Given the description of an element on the screen output the (x, y) to click on. 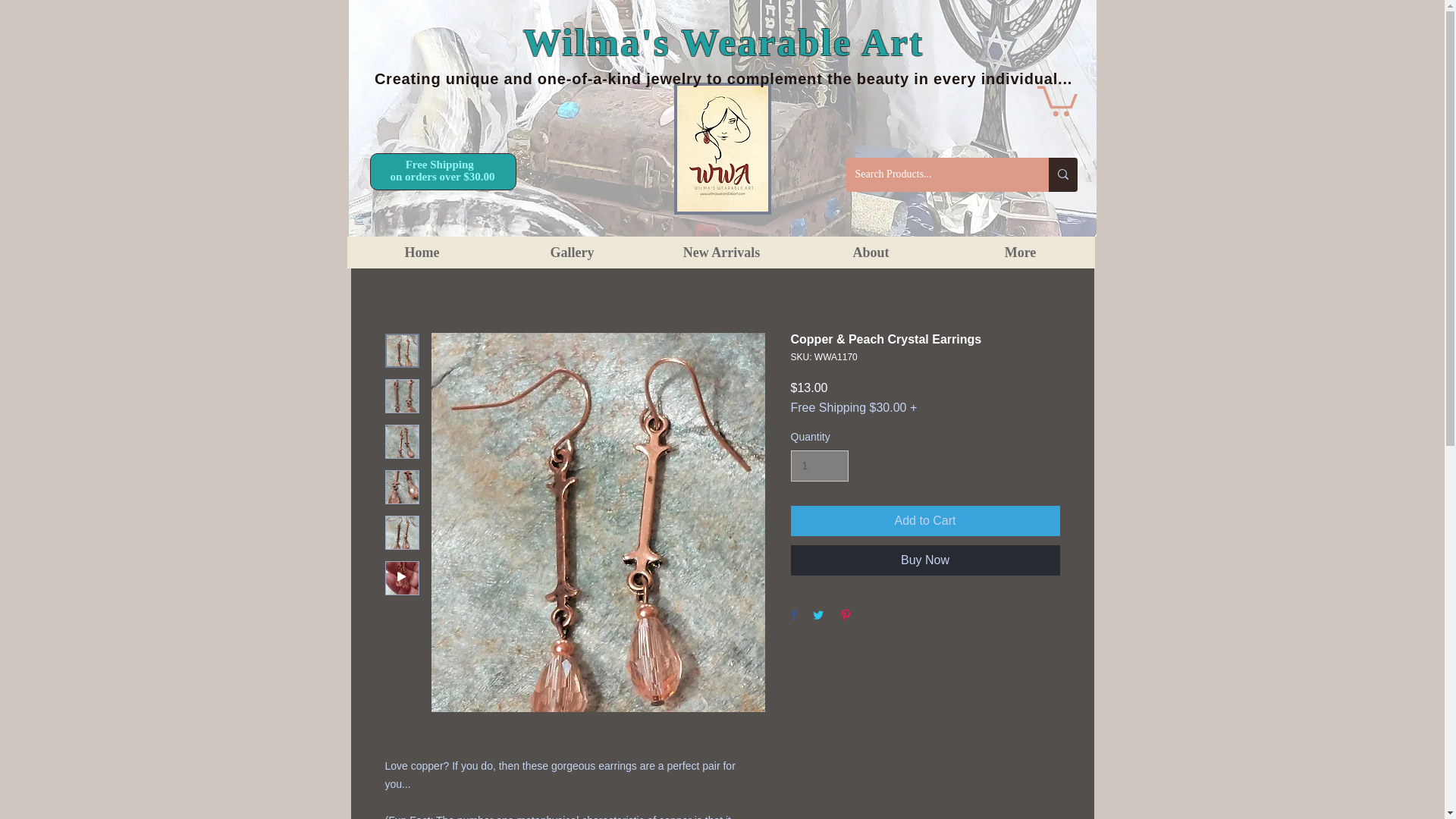
Wilma's Wearable Art (723, 42)
About (870, 252)
1 (818, 465)
Creating unique an (448, 78)
Gallery (571, 252)
Buy Now (924, 560)
Add to Cart (924, 521)
New Arrivals (720, 252)
Home (422, 252)
